Given the description of an element on the screen output the (x, y) to click on. 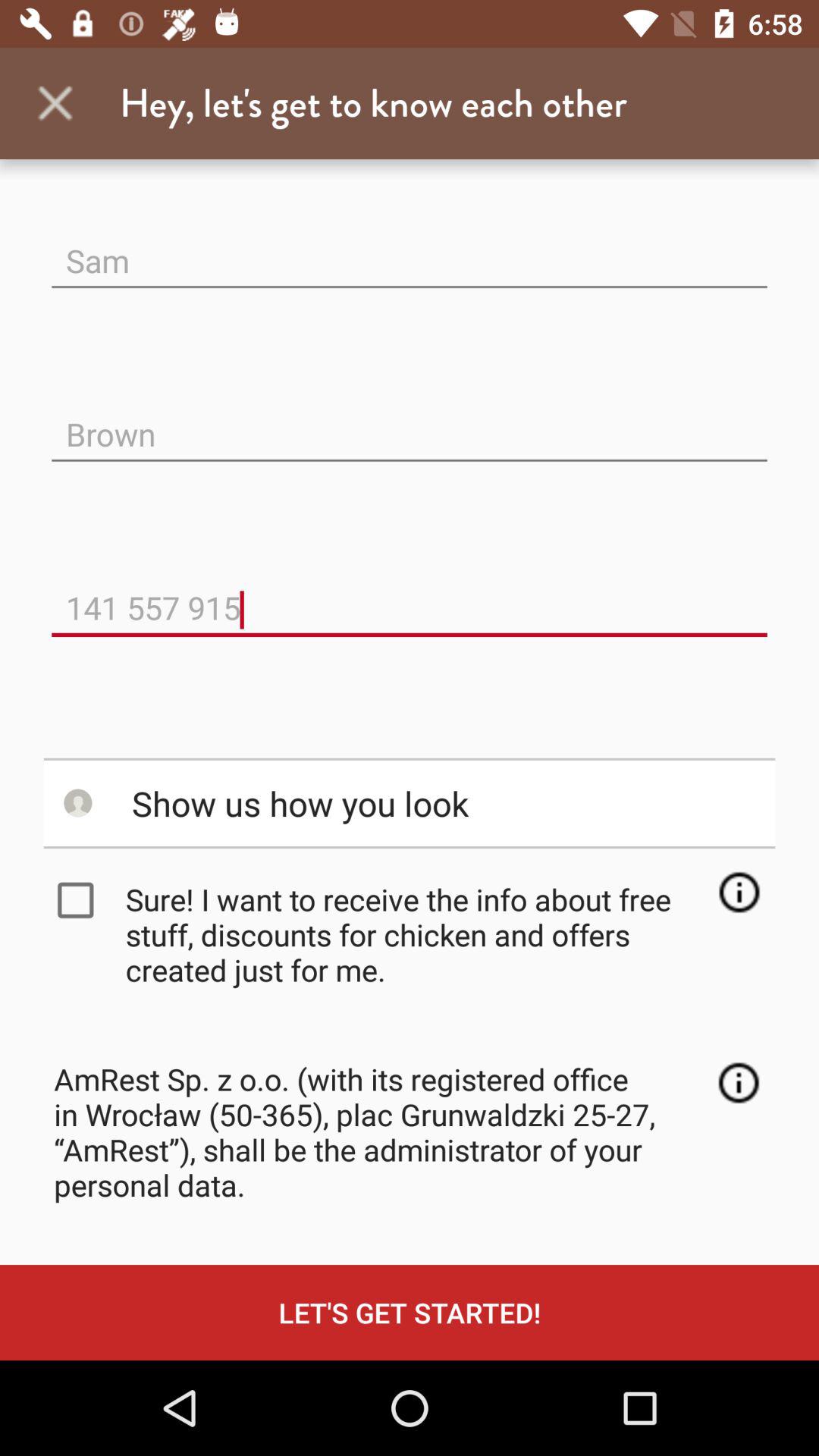
choose the icon at the bottom right corner (738, 1082)
